Given the description of an element on the screen output the (x, y) to click on. 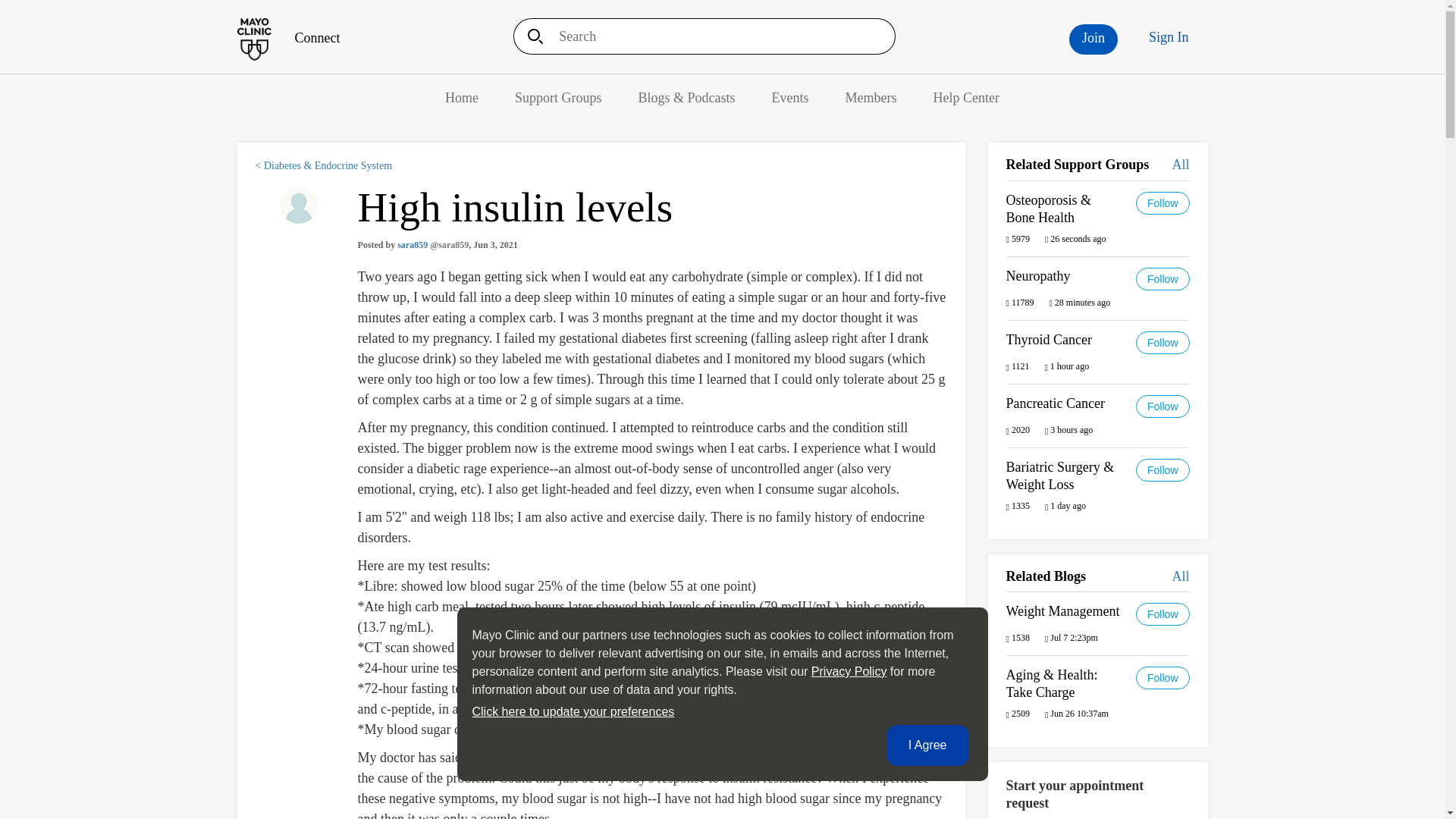
Home (462, 97)
Events (790, 97)
Search (530, 36)
Support Groups (558, 97)
Help Center (965, 97)
Help Center (965, 97)
Sign In (1169, 37)
Home (287, 37)
Members (870, 97)
Support Groups (558, 97)
Join (1093, 39)
Connect (287, 37)
Members (870, 97)
Events (790, 97)
Home (462, 97)
